Given the description of an element on the screen output the (x, y) to click on. 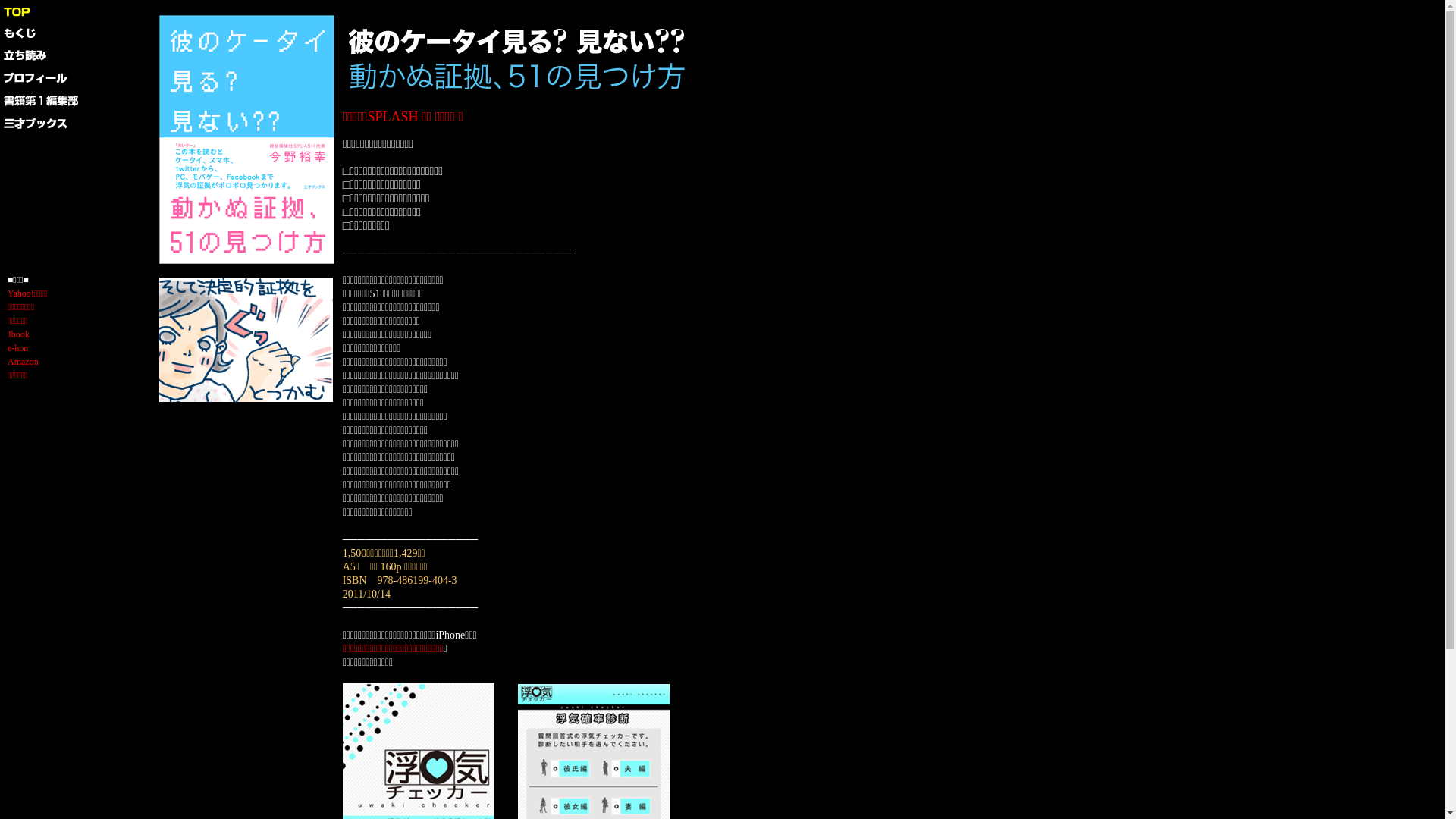
e-hon Element type: text (17, 347)
Jbook Element type: text (18, 334)
Amazon Element type: text (22, 361)
